Given the description of an element on the screen output the (x, y) to click on. 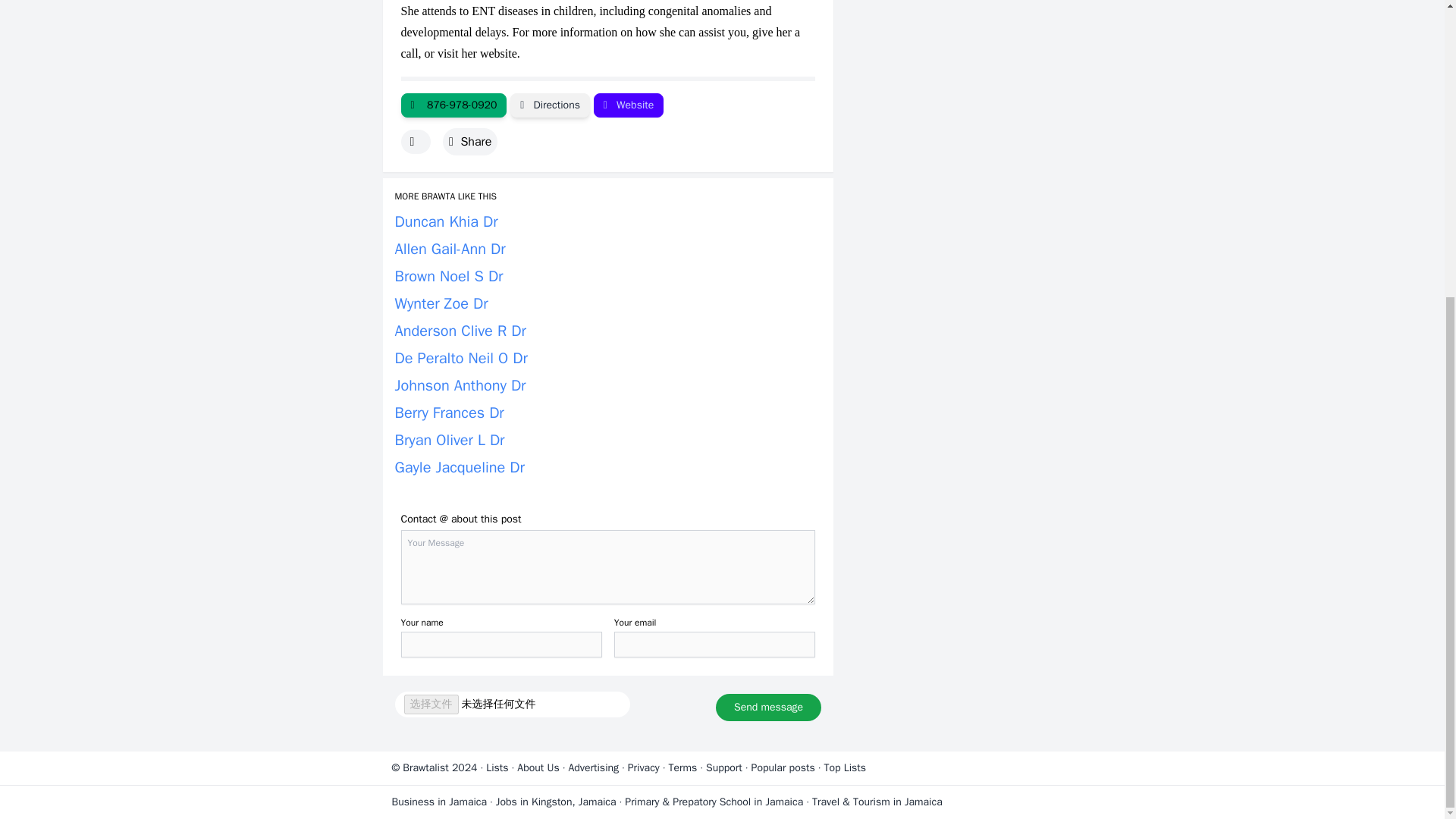
Share (469, 141)
Berry Frances Dr (448, 412)
Lists (497, 767)
Privacy (643, 767)
Click to Call (453, 105)
View on Map (550, 105)
Wynter Zoe Dr (440, 303)
Popular posts (783, 767)
Support (724, 767)
  876-978-0920 (453, 105)
About Us (537, 767)
De Peralto Neil O Dr (460, 357)
Terms (682, 767)
Anderson Clive R Dr (459, 330)
